Given the description of an element on the screen output the (x, y) to click on. 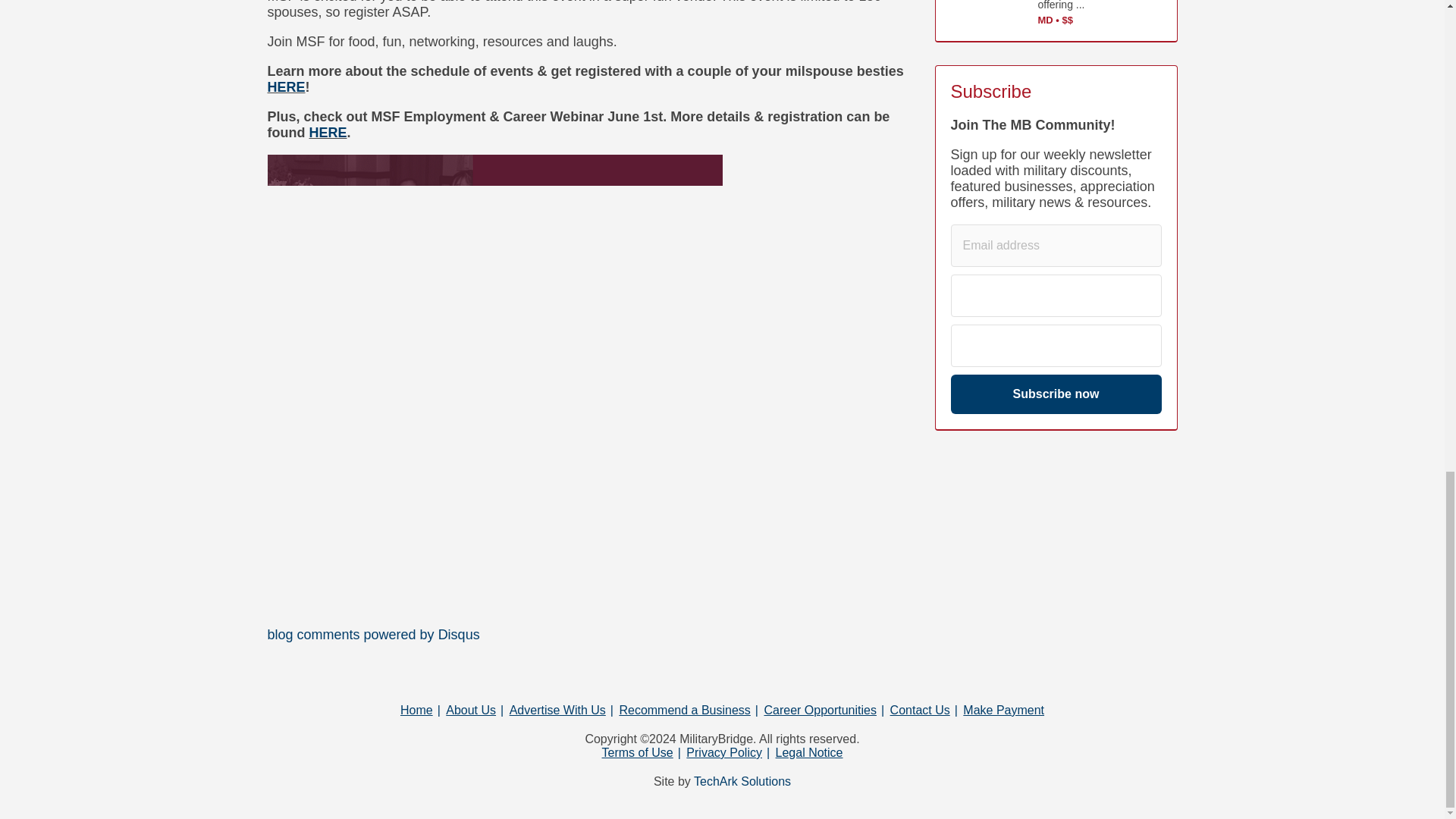
HERE (285, 87)
Subscribe now (1055, 394)
HERE (327, 132)
